Given the description of an element on the screen output the (x, y) to click on. 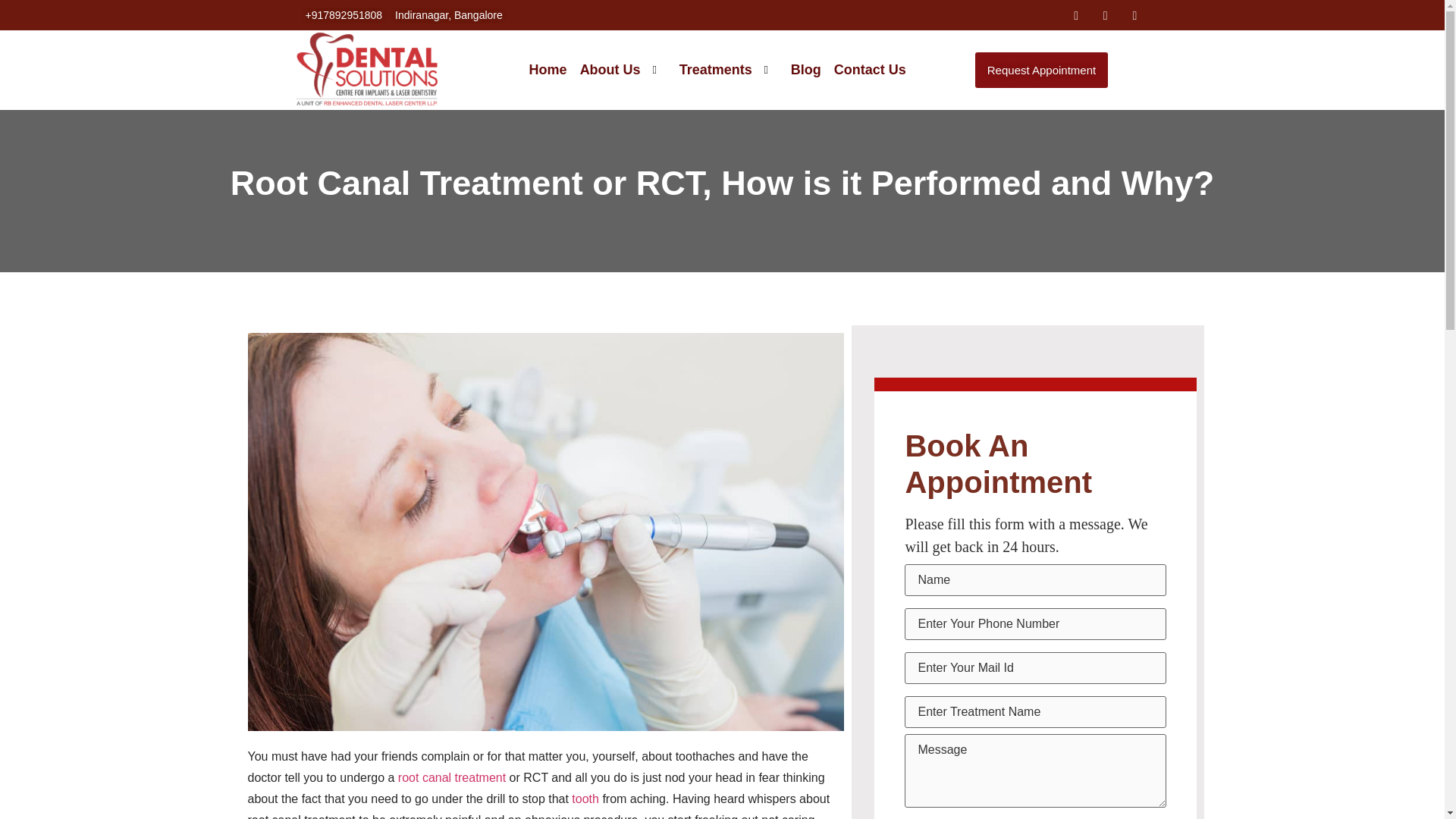
Treatments (721, 70)
Posts tagged with root canal treatment (451, 777)
Posts tagged with tooth (585, 798)
Home (541, 70)
About Us (616, 70)
Posts tagged with root canal (320, 182)
Posts tagged with rct (669, 182)
